Given the description of an element on the screen output the (x, y) to click on. 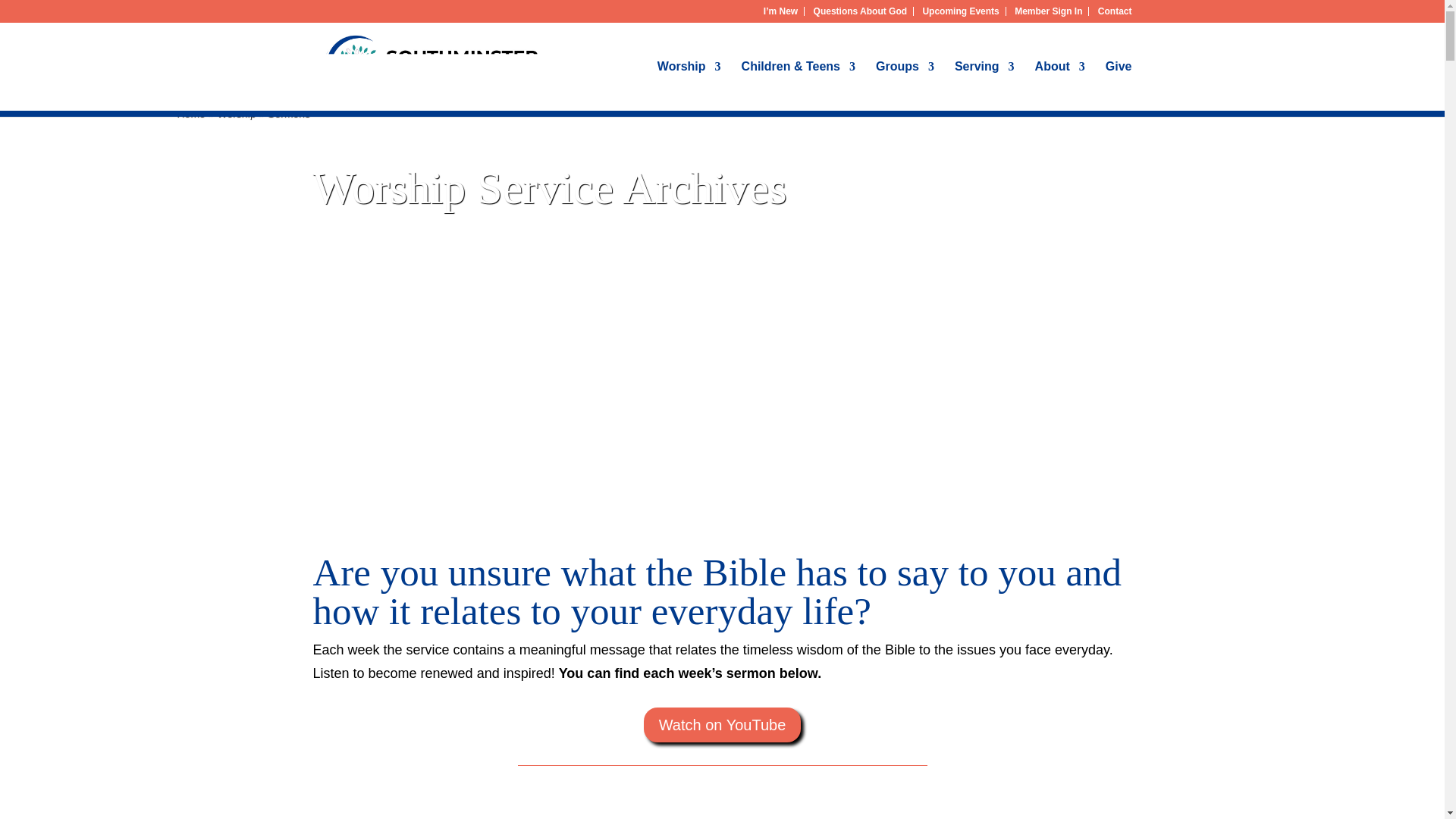
Worship (234, 112)
Watch on YouTube (722, 724)
Home (189, 112)
Worship (689, 85)
Questions About God (860, 10)
Member Sign In (1047, 10)
Upcoming Events (959, 10)
Contact (1114, 10)
About (1059, 85)
Groups (905, 85)
